Given the description of an element on the screen output the (x, y) to click on. 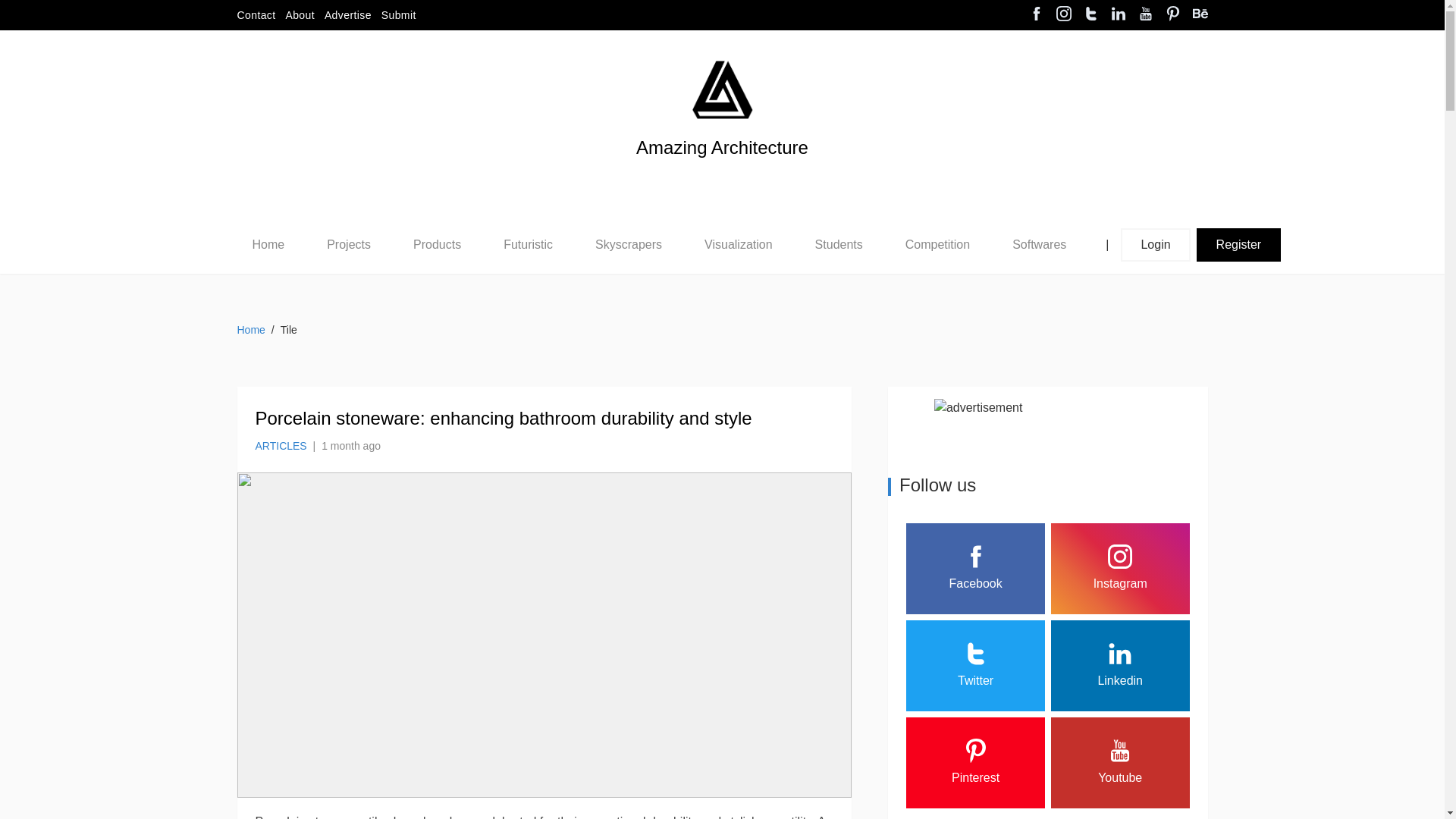
follow us on linkedin (1117, 14)
Submit (398, 15)
subscribe to our youtube channel (1145, 14)
Amazing Architecture (722, 173)
About us page (299, 15)
Amazing Architecture (721, 88)
follow us on twitter (1090, 14)
Advertisement page (347, 15)
follow us on pinterest (1199, 14)
Home (267, 244)
Home (267, 244)
Contact us page (255, 15)
Amazing Architecture (722, 173)
follow us on pinterest (1171, 14)
Projects (348, 244)
